Given the description of an element on the screen output the (x, y) to click on. 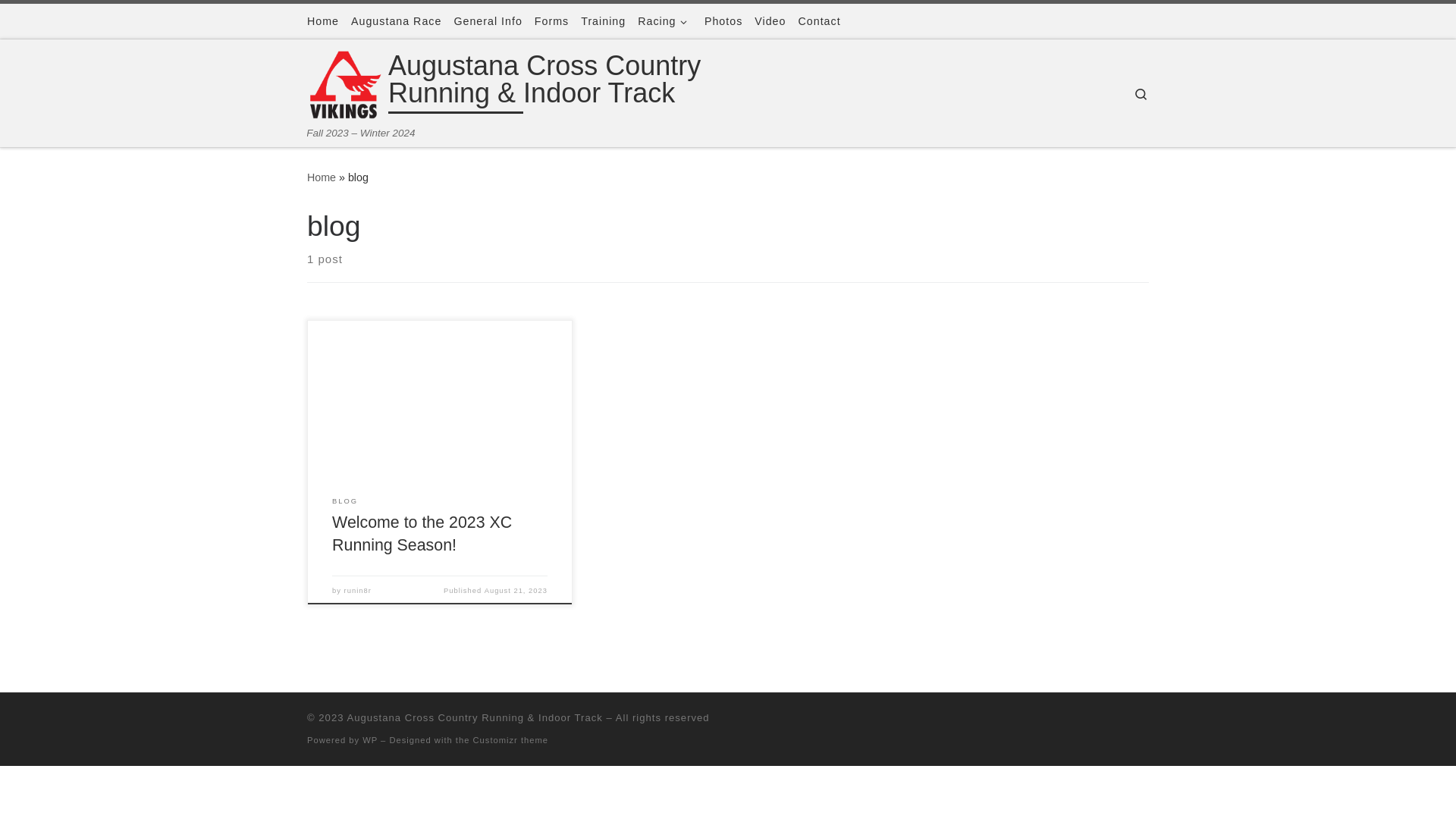
BLOG Element type: text (344, 501)
Contact Element type: text (818, 20)
WP Element type: text (369, 739)
runin8r Element type: text (357, 590)
Augustana Cross Country Running & Indoor Track Element type: text (474, 717)
Welcome to the 2023 XC Running Season! Element type: text (421, 533)
Customizr theme Element type: text (511, 739)
Photos Element type: text (723, 20)
Racing Element type: text (664, 20)
Forms Element type: text (551, 20)
Skip to content Element type: text (61, 20)
Augustana Race Element type: text (396, 20)
General Info Element type: text (487, 20)
Augustana Cross Country Running & Indoor Track Element type: text (592, 82)
Video Element type: text (769, 20)
Training Element type: text (602, 20)
Home Element type: text (323, 20)
Home Element type: text (321, 177)
August 21, 2023 Element type: text (515, 590)
Search Element type: text (1140, 93)
